Given the description of an element on the screen output the (x, y) to click on. 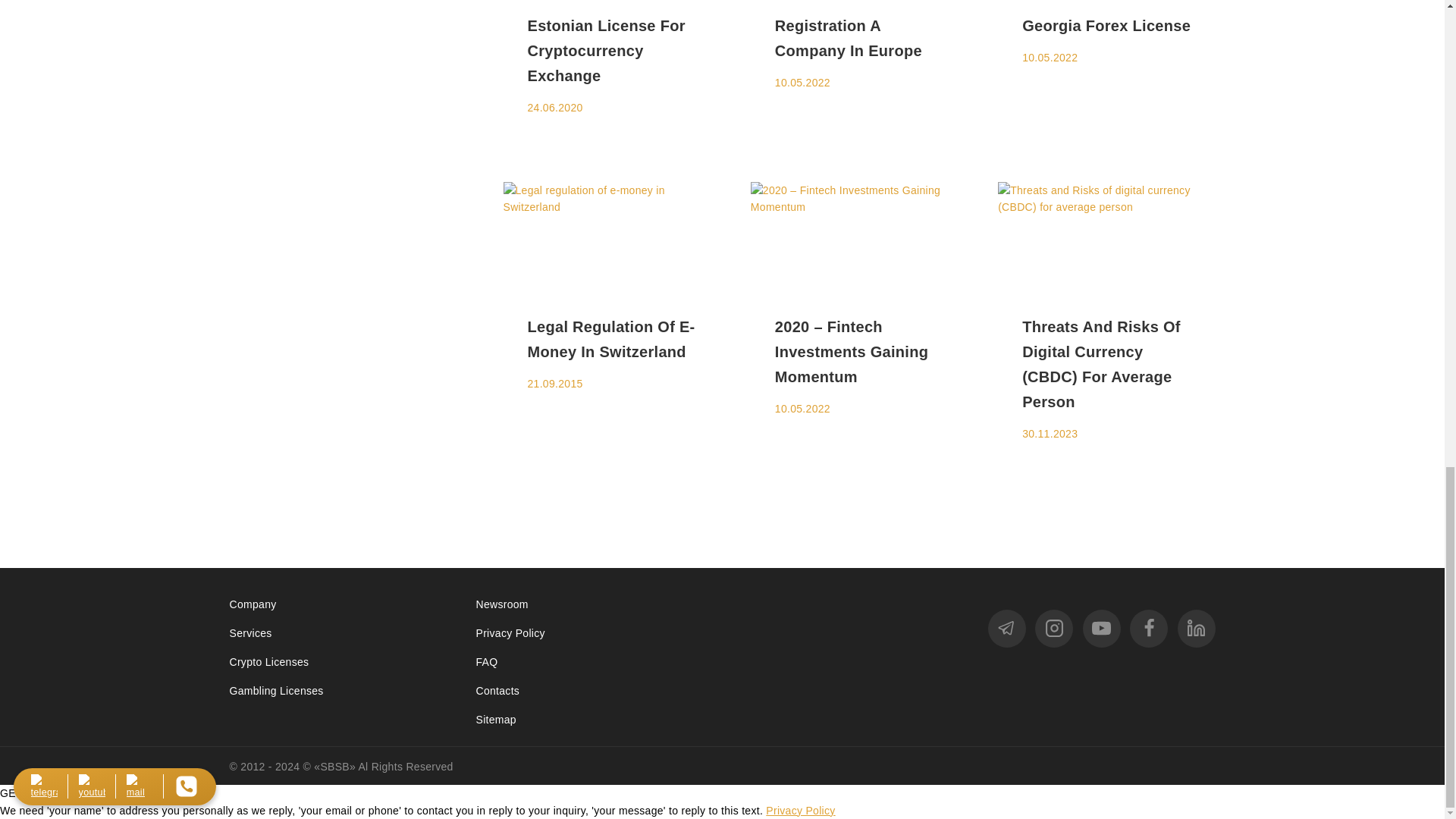
Legal regulation of e-money in Switzerland (611, 235)
